Given the description of an element on the screen output the (x, y) to click on. 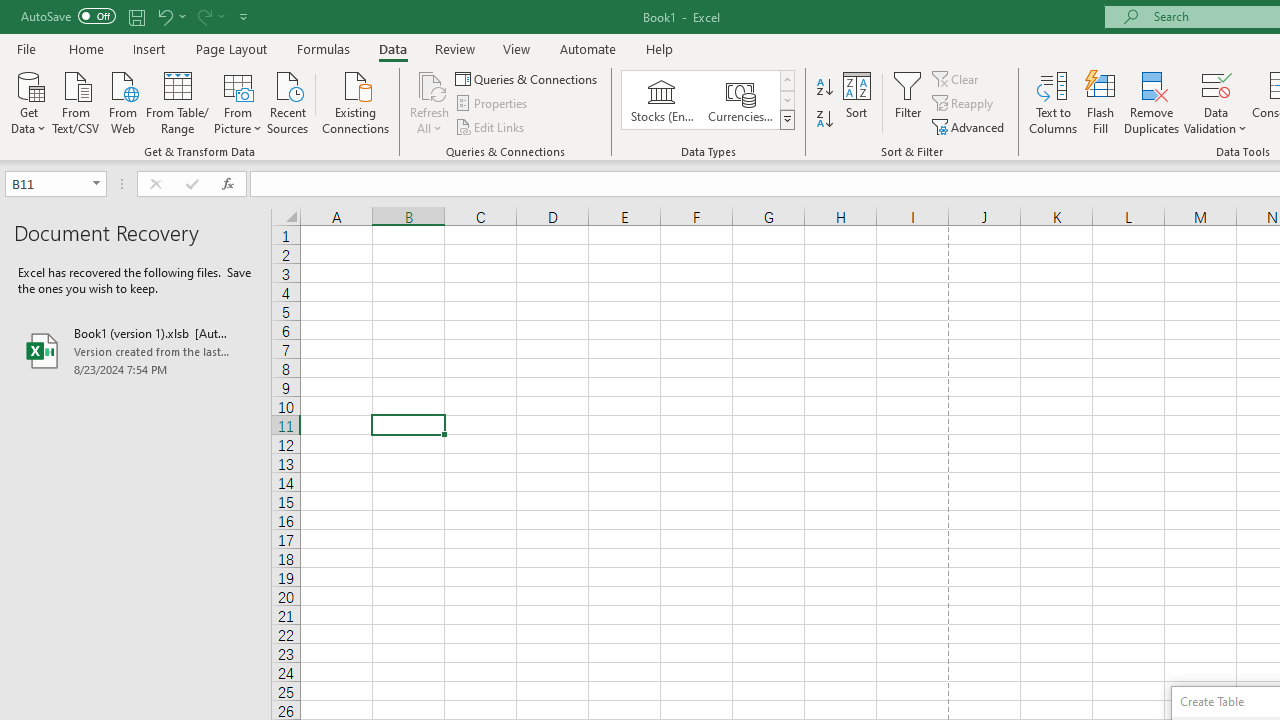
Refresh All (429, 102)
Sort A to Z (824, 87)
Data Validation... (1215, 84)
View (517, 48)
Review (454, 48)
Automate (588, 48)
Help (660, 48)
Queries & Connections (527, 78)
Insert (149, 48)
Formulas (323, 48)
Book1 (version 1).xlsb  [AutoRecovered] (136, 350)
Reapply (964, 103)
Row Down (786, 100)
Currencies (English) (740, 100)
